Given the description of an element on the screen output the (x, y) to click on. 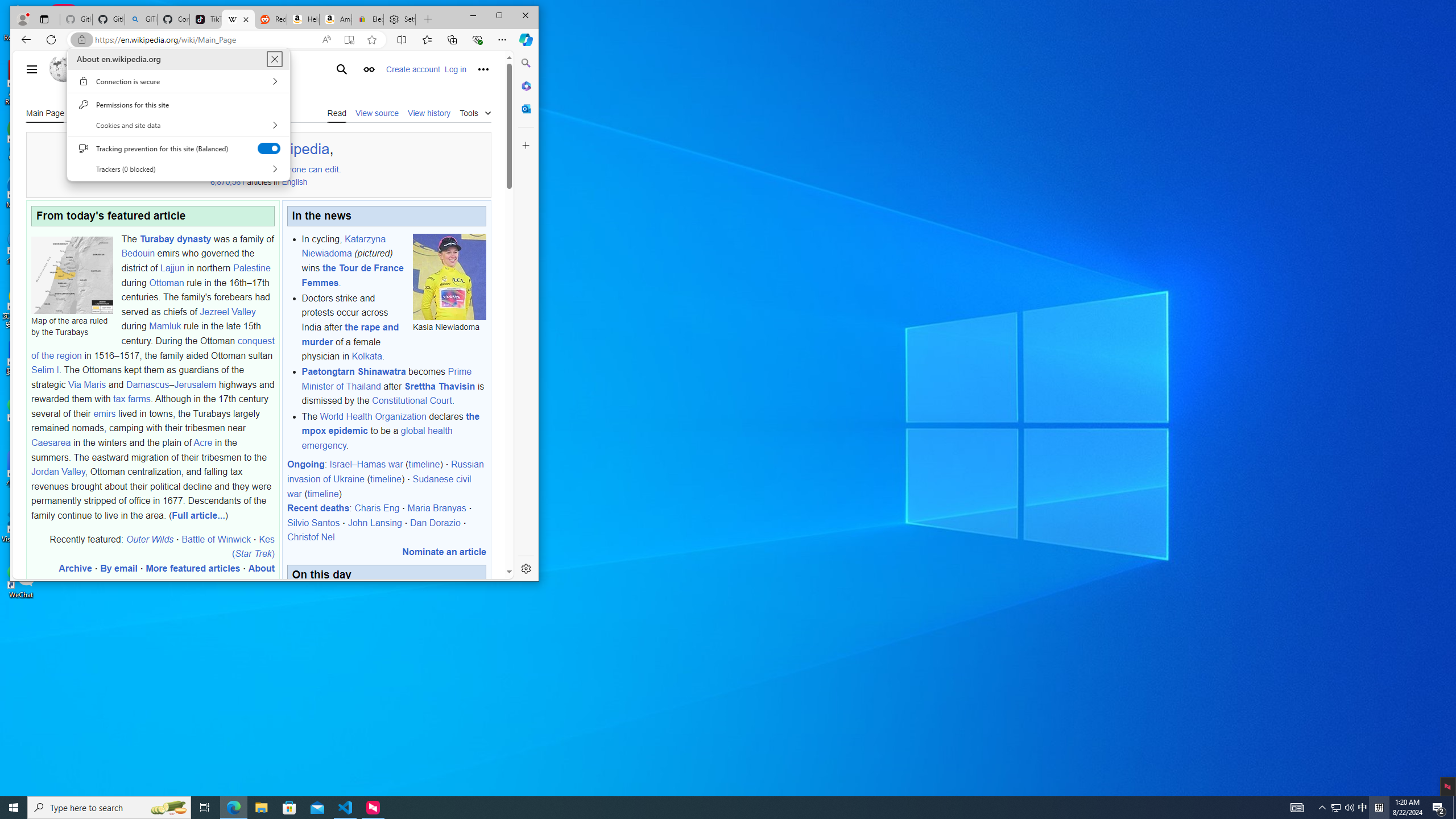
Christof Nel (310, 537)
Paetongtarn Shinawatra (353, 371)
Russian invasion of Ukraine (384, 471)
View history (429, 112)
the rape and murder (349, 334)
Silvio Santos (313, 522)
Damascus (146, 384)
Maria Branyas (436, 508)
